Given the description of an element on the screen output the (x, y) to click on. 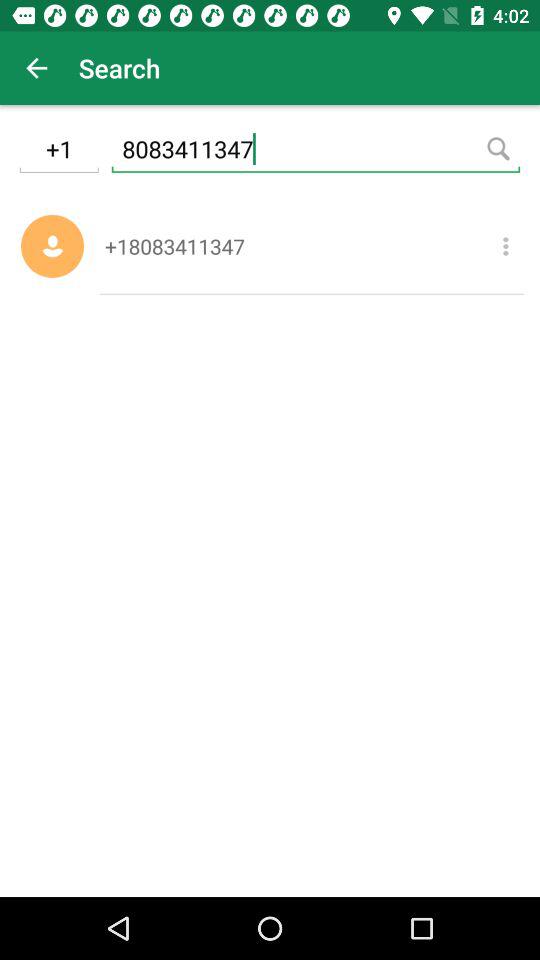
press the app below the search item (315, 151)
